Given the description of an element on the screen output the (x, y) to click on. 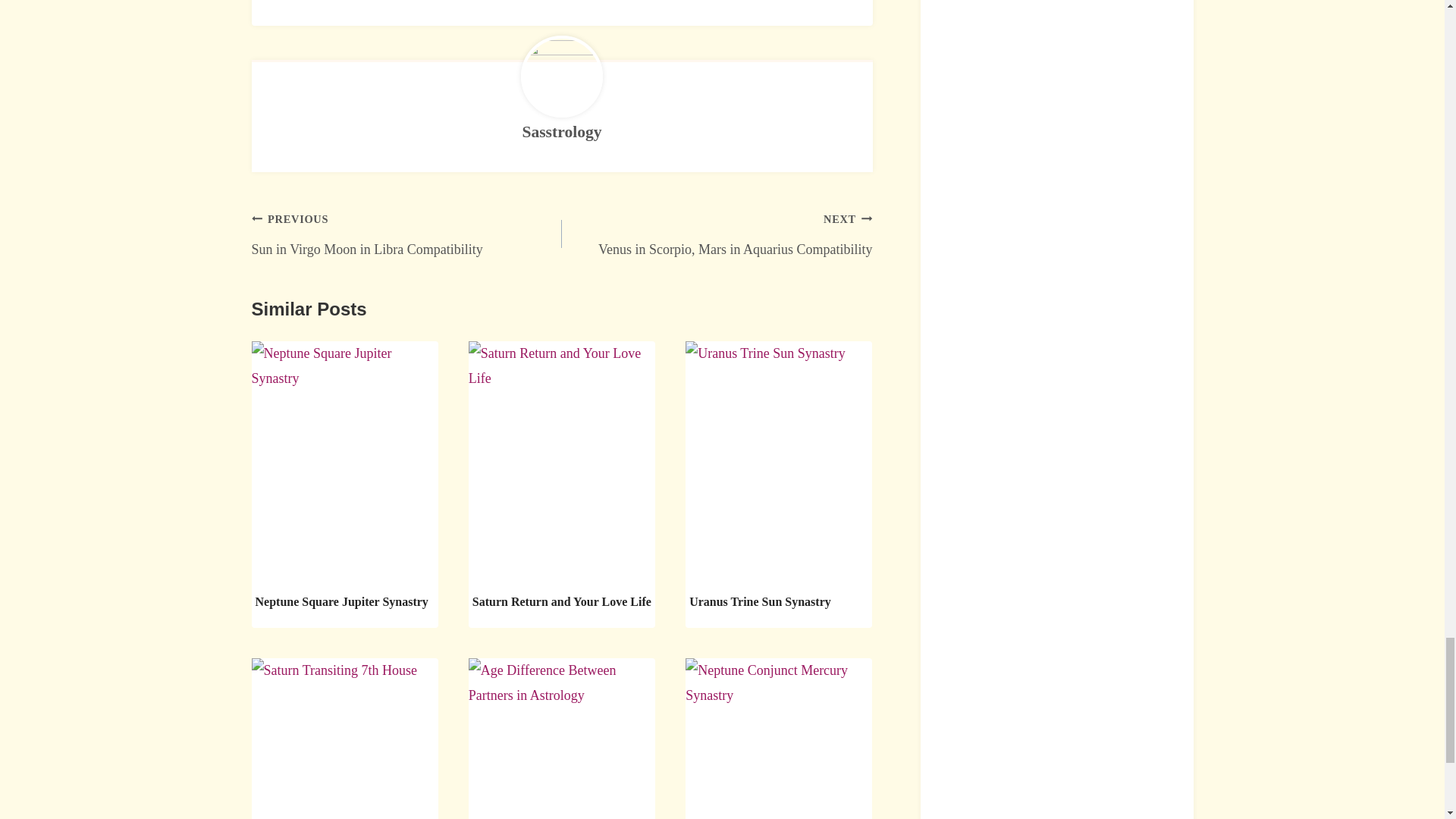
Posts by Sasstrology (406, 234)
Sasstrology (561, 131)
Saturn Return and Your Love Life (561, 131)
Neptune Square Jupiter Synastry (560, 601)
